Given the description of an element on the screen output the (x, y) to click on. 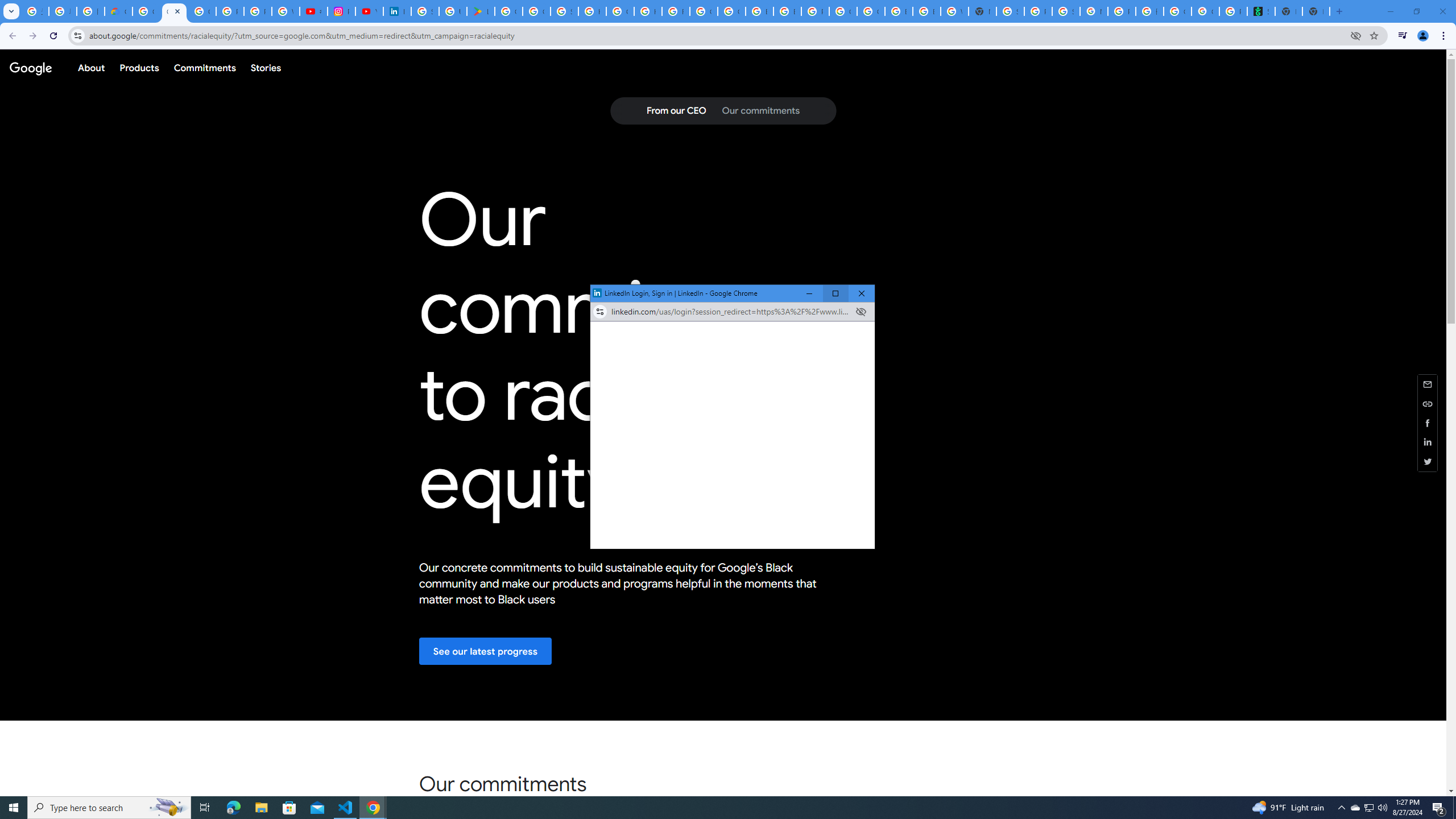
Privacy Help Center - Policies Help (257, 11)
Sign in - Google Accounts (564, 11)
Q2790: 100% (1382, 807)
Share this page (Facebook) (1427, 422)
Google (30, 67)
From our CEO: Jump to page section (676, 110)
Browse Chrome as a guest - Computer - Google Chrome Help (898, 11)
New Tab (982, 11)
